Given the description of an element on the screen output the (x, y) to click on. 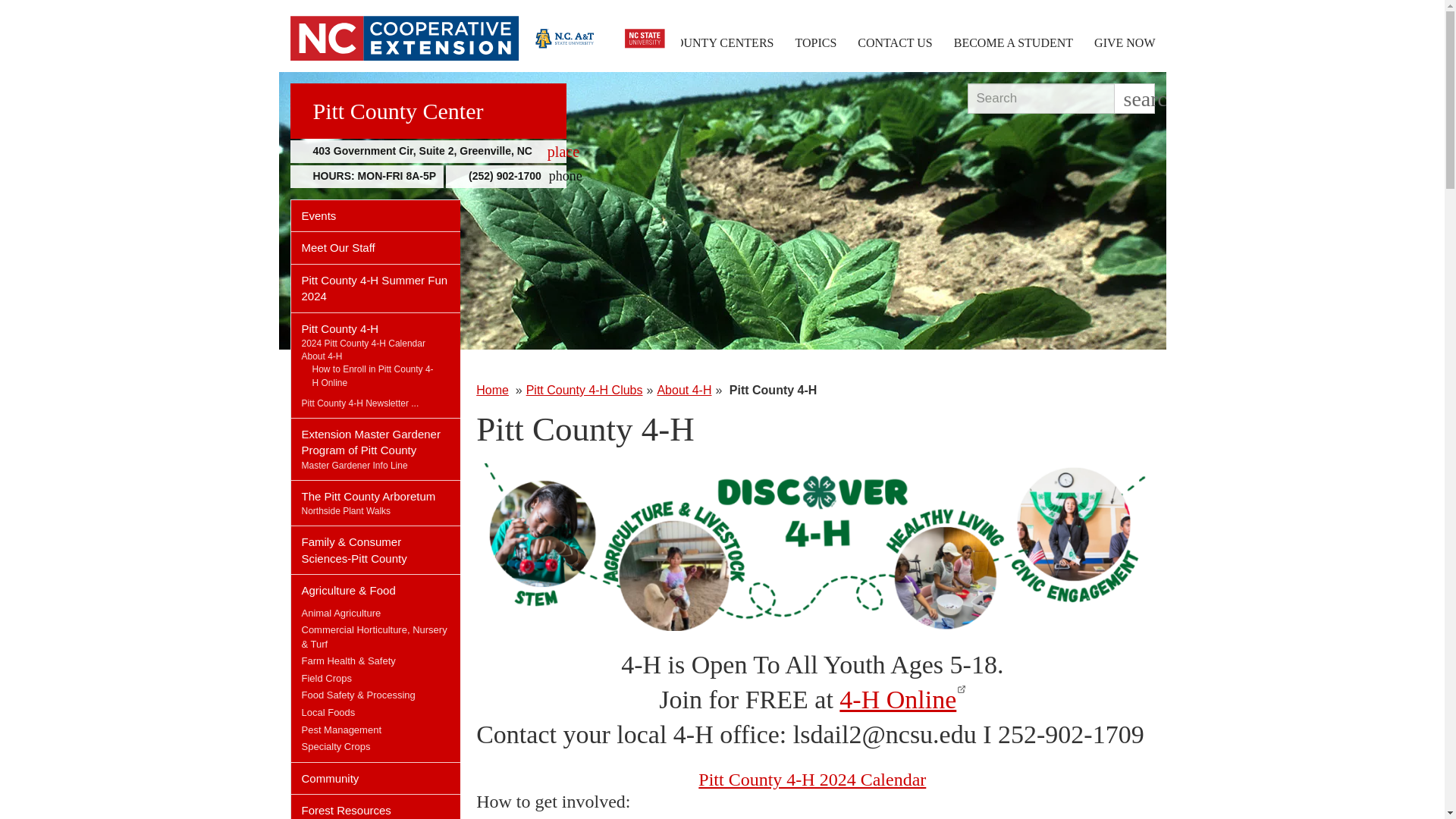
BECOME A STUDENT (1013, 42)
About 4-H (321, 356)
Pitt County 4-H Clubs (584, 390)
Pitt County Center (427, 110)
CONTACT US (894, 42)
Local Foods (328, 712)
GIVE NOW (1124, 42)
Extension Master Gardener Program of Pitt County (376, 438)
Animal Agriculture (341, 613)
